Given the description of an element on the screen output the (x, y) to click on. 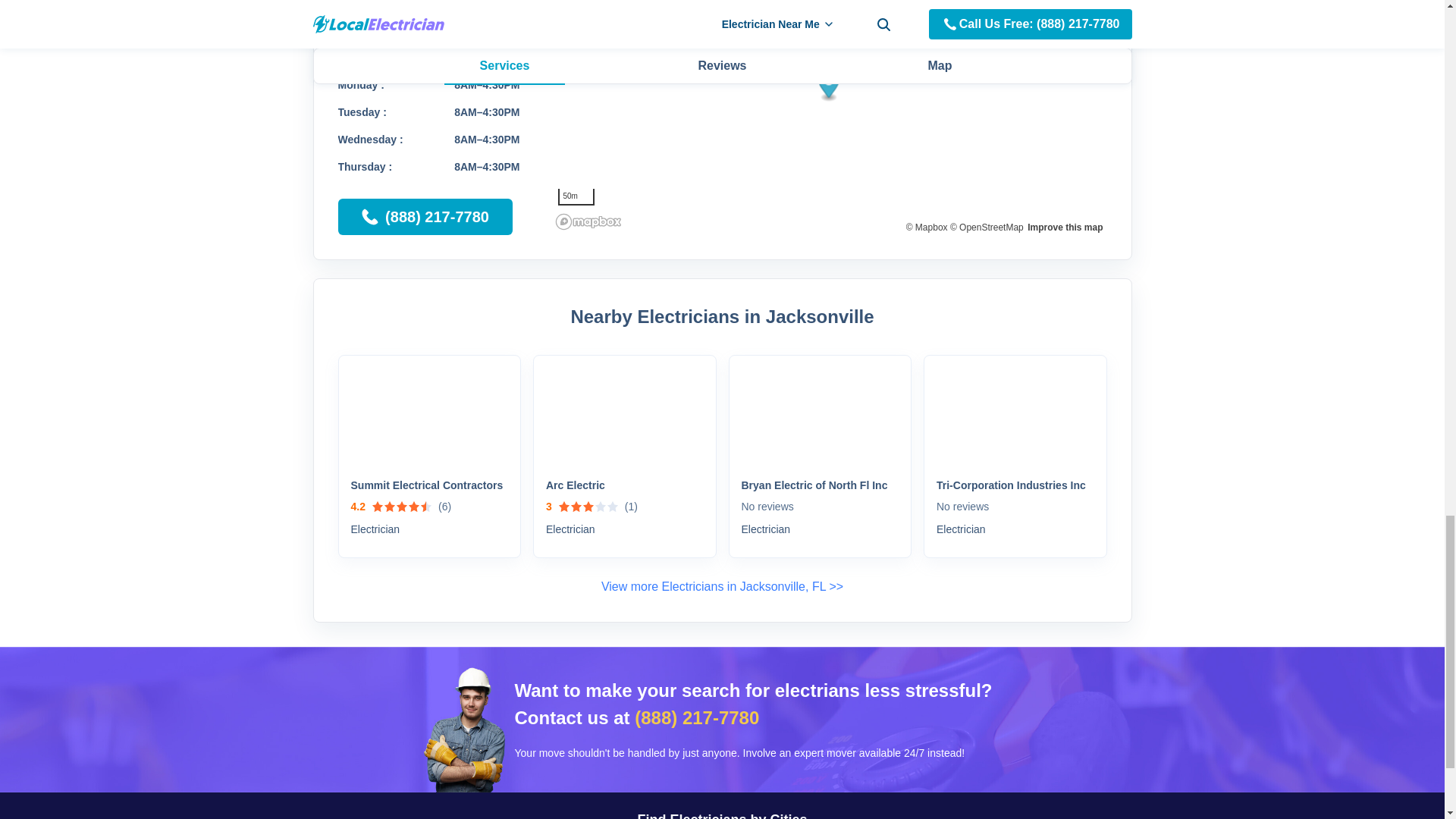
OpenStreetMap (986, 226)
Zoom out (1088, 5)
Summit Electrical Contractors (429, 485)
Arc Electric (624, 485)
Reset bearing to north (1088, 21)
Tri-Corporation Industries Inc (1015, 485)
Bryan Electric of North Fl Inc (820, 485)
Mapbox (926, 226)
